Given the description of an element on the screen output the (x, y) to click on. 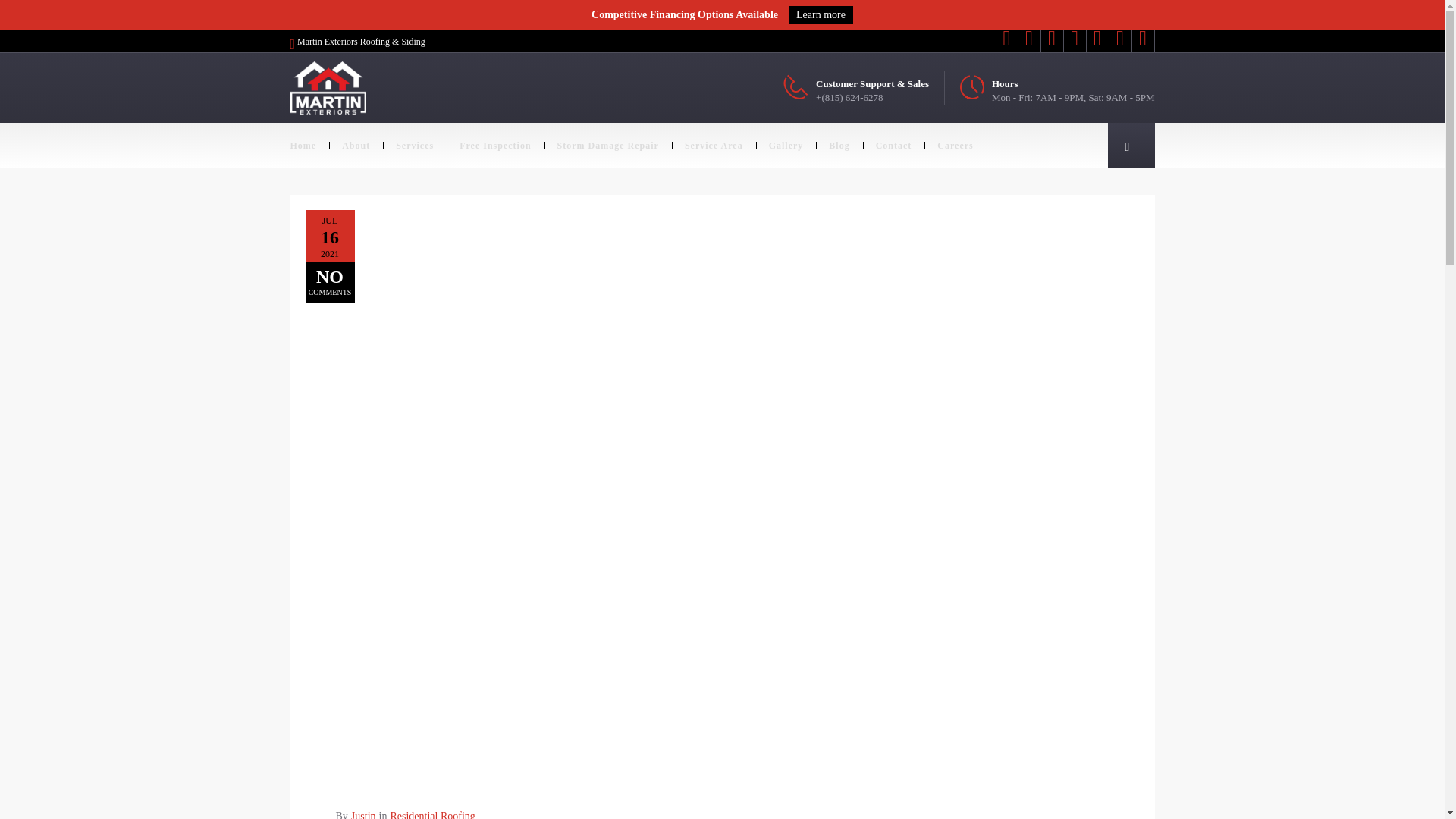
Free Inspection (494, 145)
Posts by Justin (362, 814)
Gallery (785, 145)
Storm Damage Repair (607, 145)
Services (414, 145)
Residential Roofing (432, 814)
About (355, 145)
Blog (838, 145)
Learn more (821, 14)
